Given the description of an element on the screen output the (x, y) to click on. 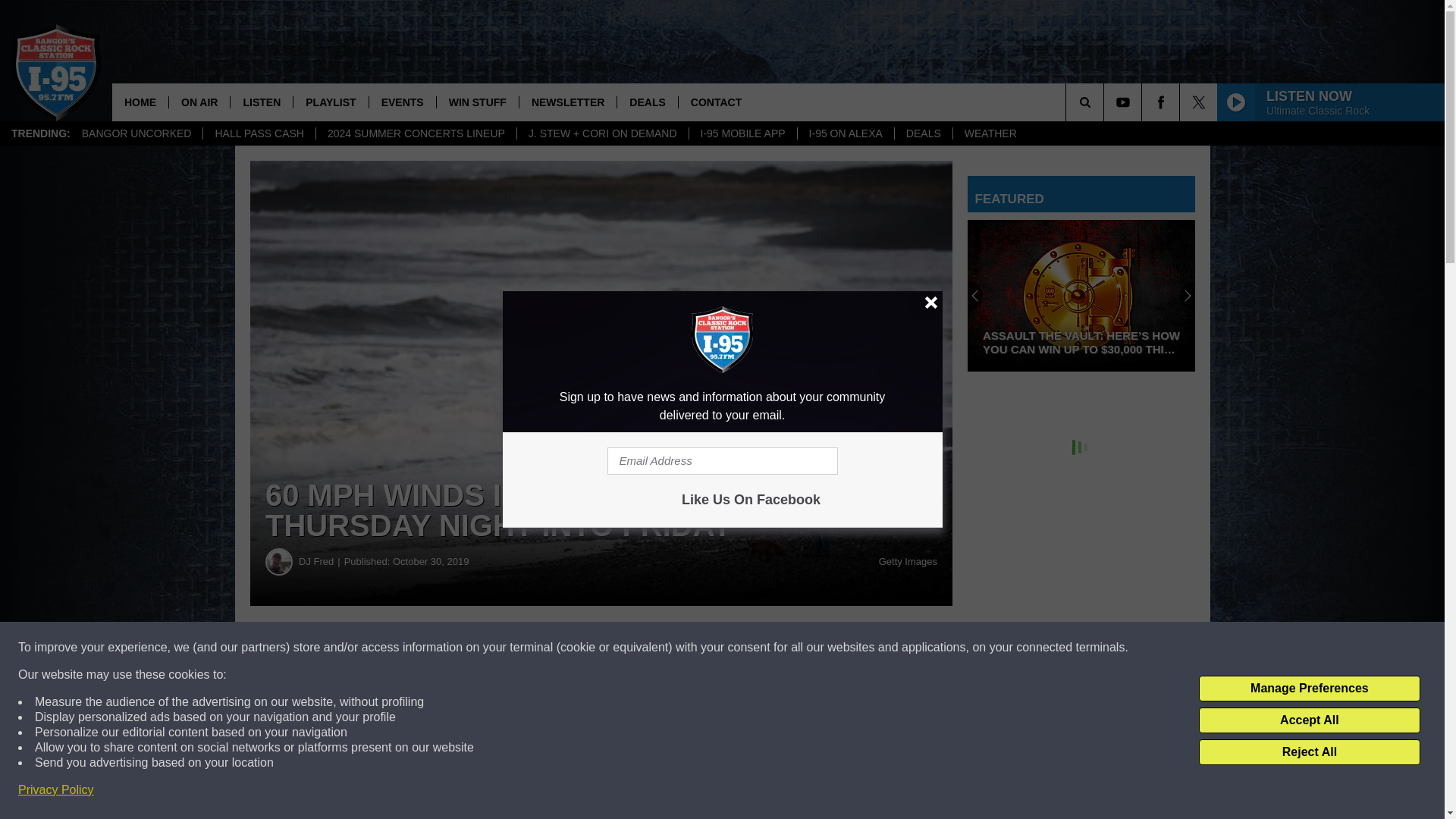
Reject All (1309, 751)
Accept All (1309, 720)
Privacy Policy (55, 789)
DEALS (922, 133)
EVENTS (401, 102)
HALL PASS CASH (258, 133)
HOME (140, 102)
WEATHER (989, 133)
I-95 ON ALEXA (844, 133)
LISTEN (261, 102)
I-95 MOBILE APP (742, 133)
Share on Twitter (741, 647)
BANGOR UNCORKED (136, 133)
WIN STUFF (476, 102)
SEARCH (1106, 102)
